Given the description of an element on the screen output the (x, y) to click on. 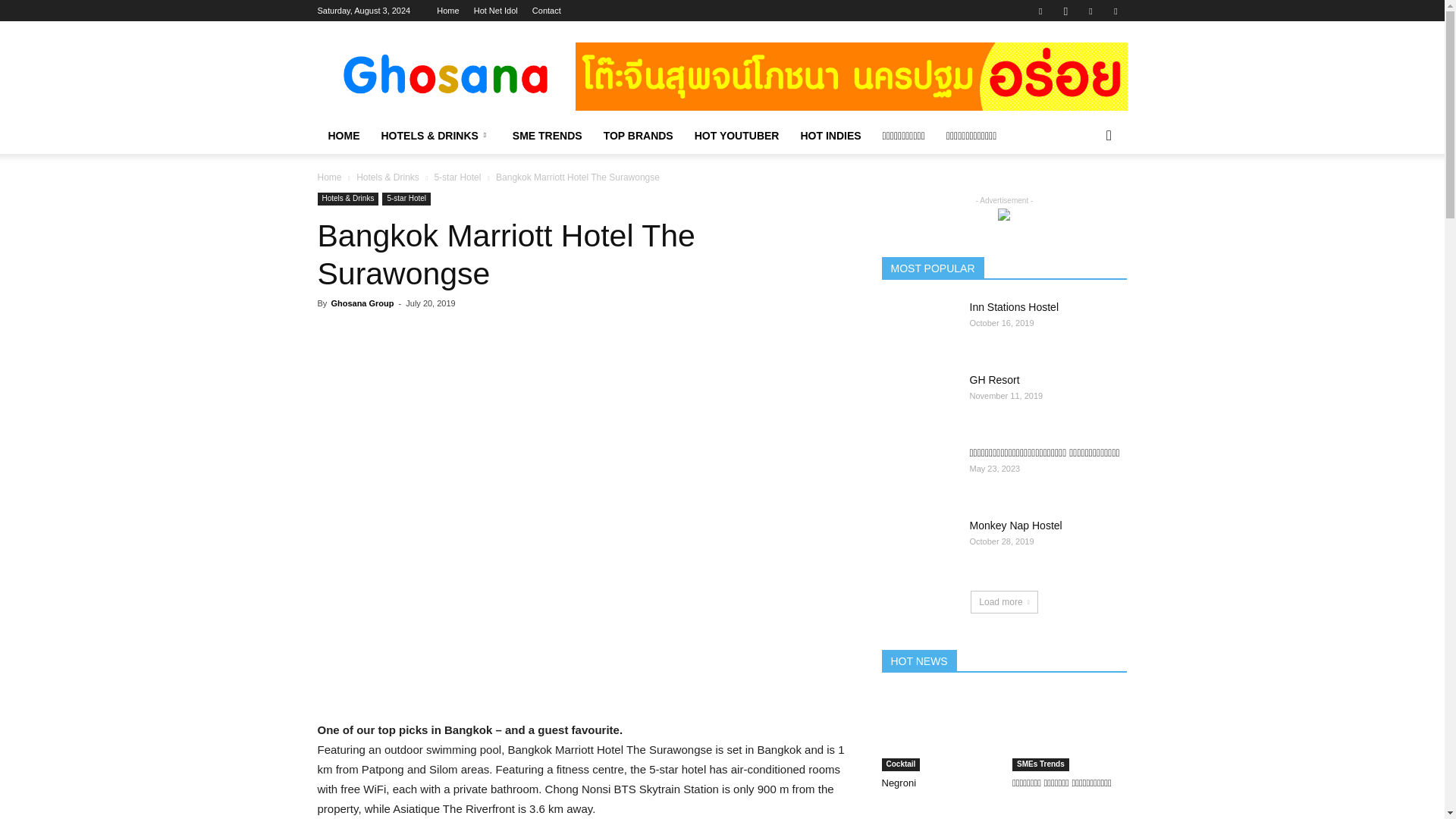
Hot Net Idol (496, 10)
Home (447, 10)
Contact (546, 10)
